Given the description of an element on the screen output the (x, y) to click on. 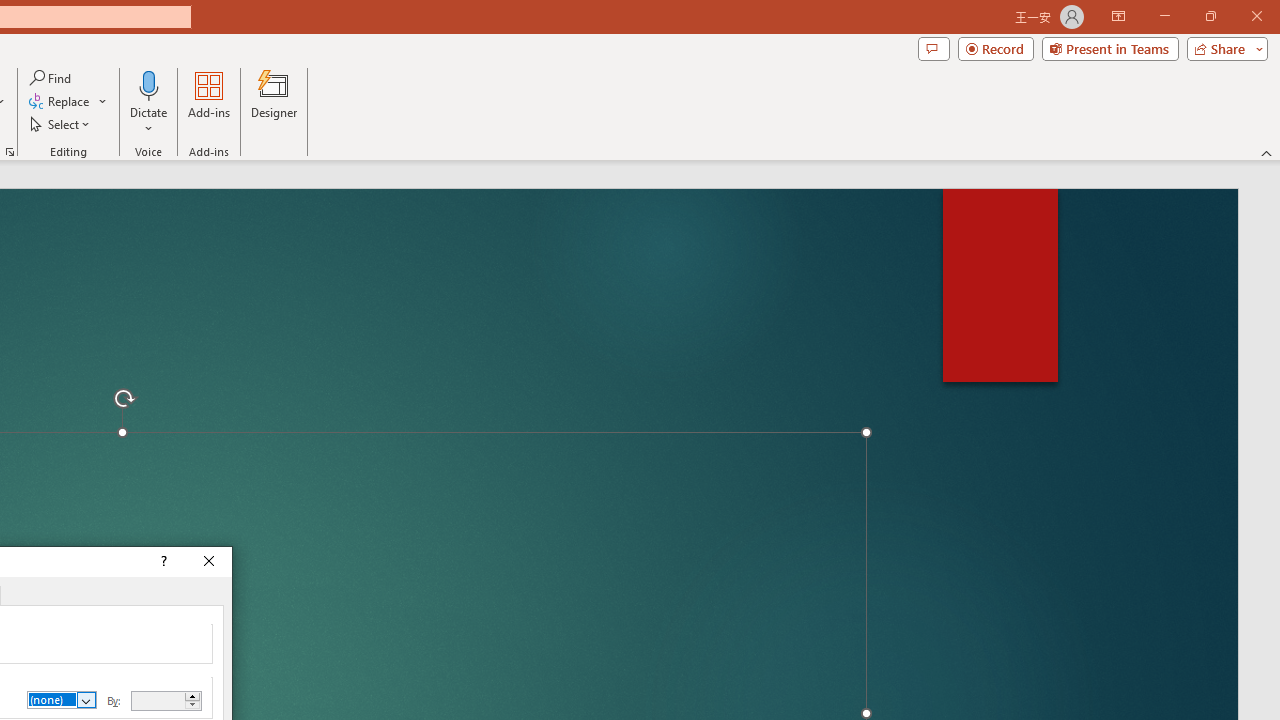
Less (192, 705)
By (166, 701)
Select (61, 124)
Context help (162, 561)
Format Object... (9, 151)
Find... (51, 78)
